Given the description of an element on the screen output the (x, y) to click on. 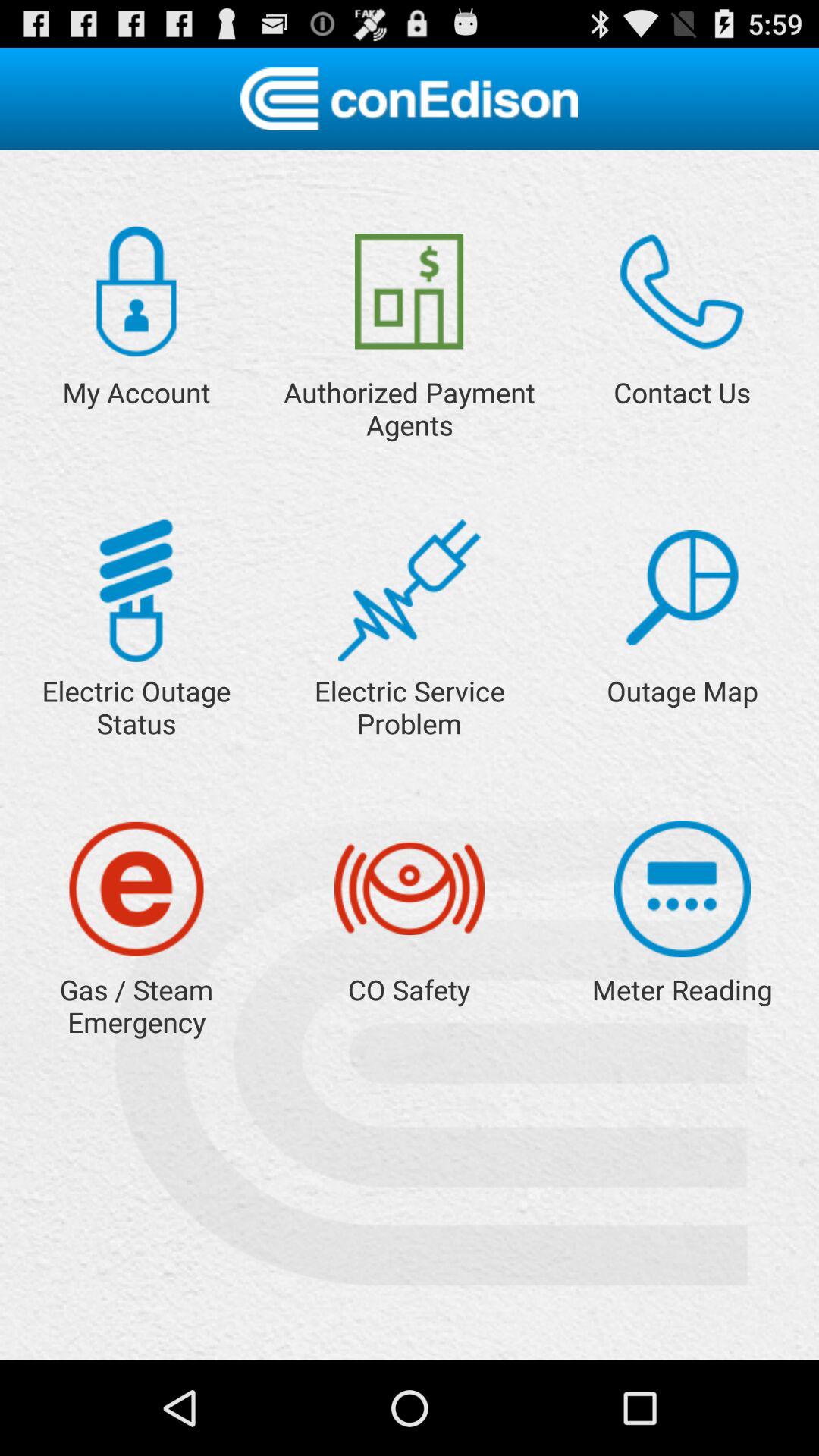
toggle gas/steam emergency (136, 888)
